Given the description of an element on the screen output the (x, y) to click on. 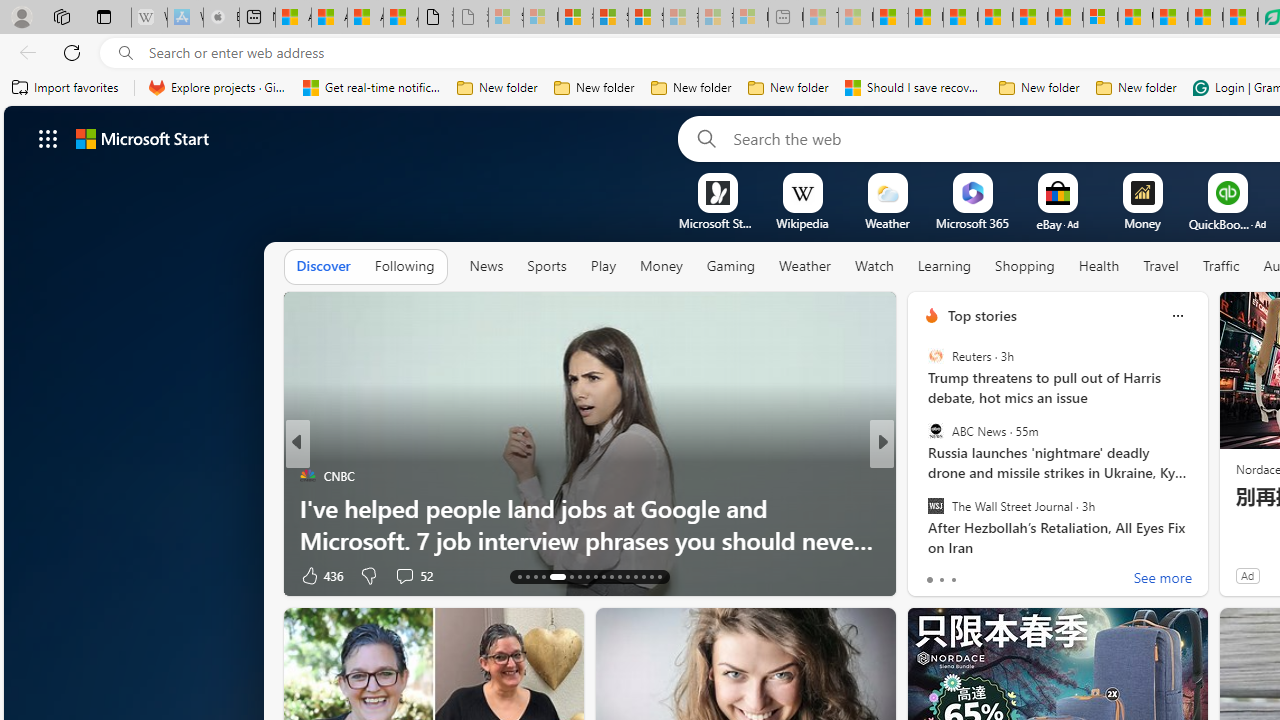
AutomationID: tab-24 (619, 576)
BuzzFeed (923, 475)
Buy iPad - Apple - Sleeping (221, 17)
AutomationID: tab-20 (586, 576)
View comments 52 Comment (404, 575)
The Weather Channel (923, 475)
775 Like (936, 574)
